Given the description of an element on the screen output the (x, y) to click on. 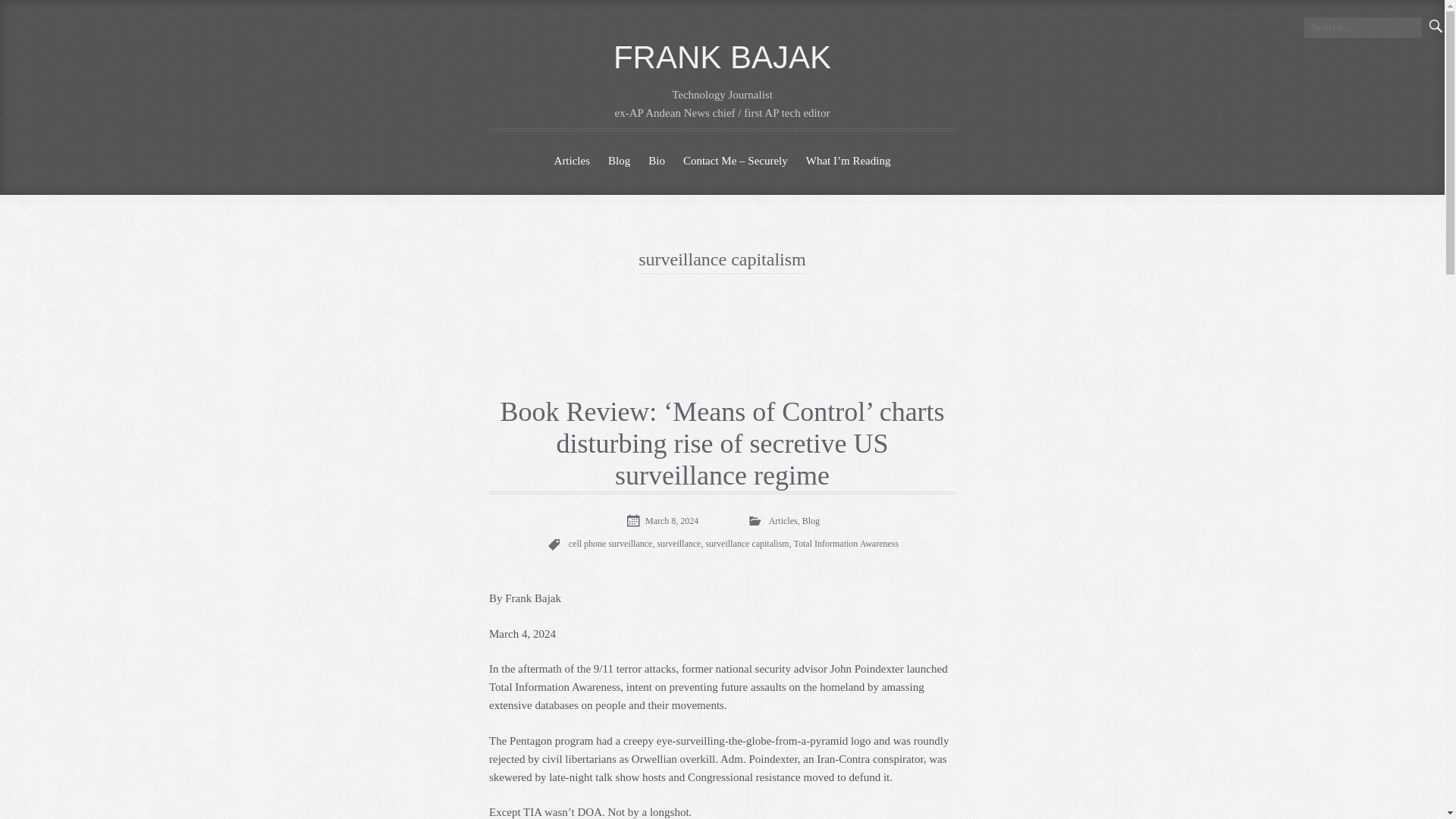
Articles (782, 520)
surveillance (678, 543)
March 8, 2024 (661, 520)
Bio (656, 160)
cell phone surveillance (610, 543)
Blog (810, 520)
Total Information Awareness (845, 543)
Skip to content (496, 151)
Articles (571, 160)
FRANK BAJAK (721, 57)
